Given the description of an element on the screen output the (x, y) to click on. 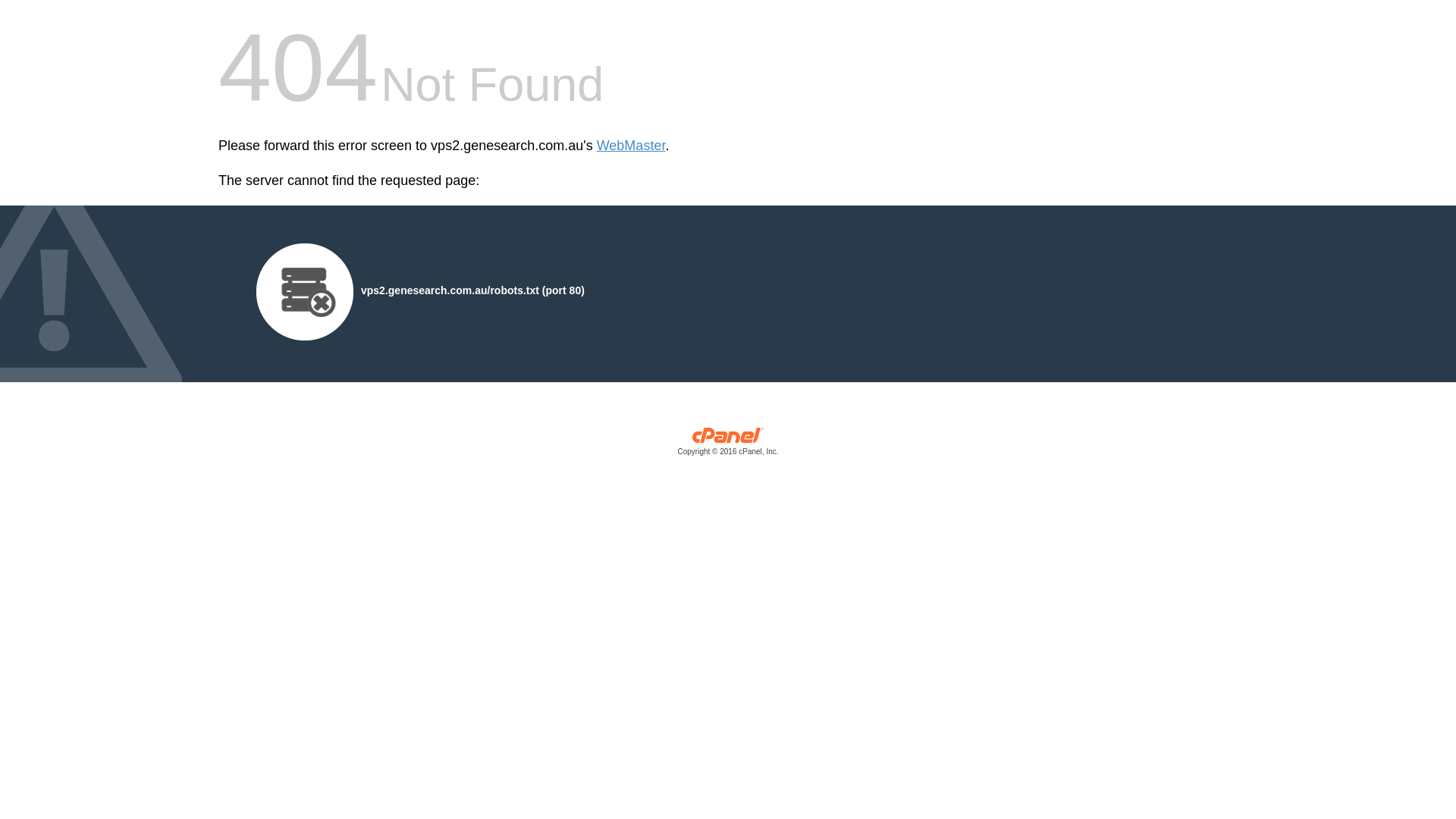
WebMaster Element type: text (630, 145)
